Given the description of an element on the screen output the (x, y) to click on. 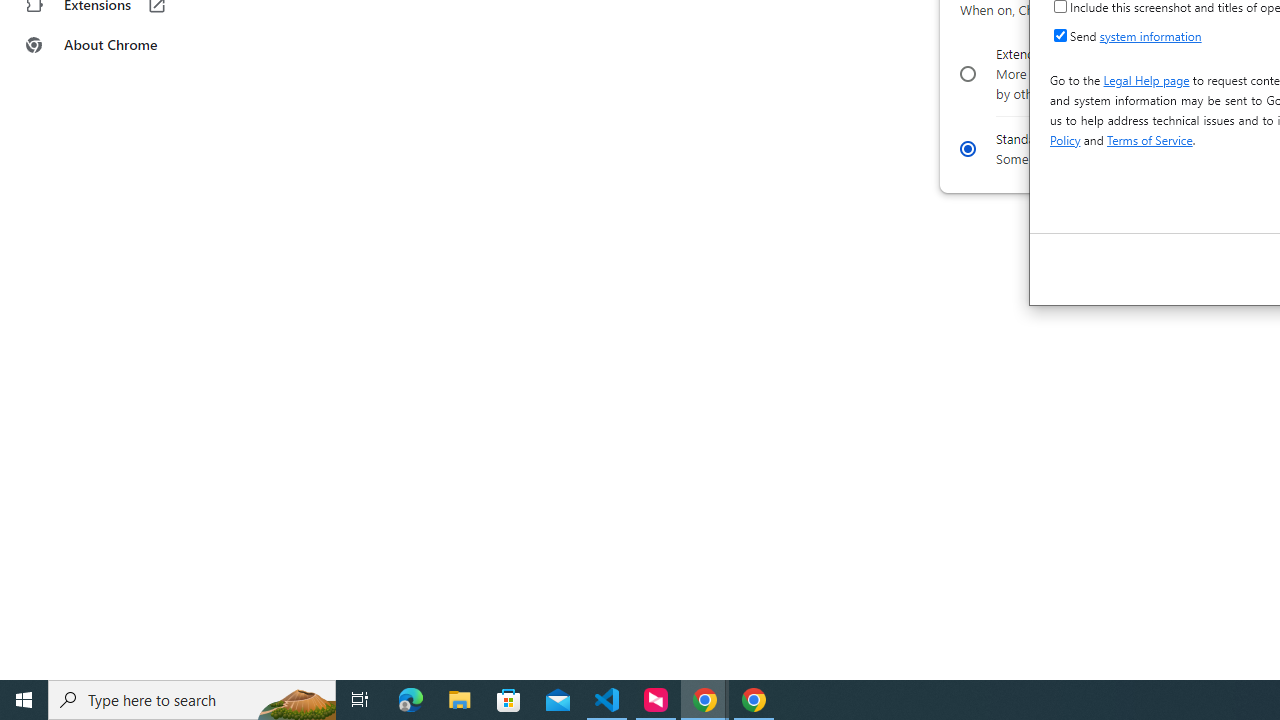
Task View (359, 699)
About Chrome (124, 44)
Google Chrome - 3 running windows (704, 699)
Microsoft Store (509, 699)
